Given the description of an element on the screen output the (x, y) to click on. 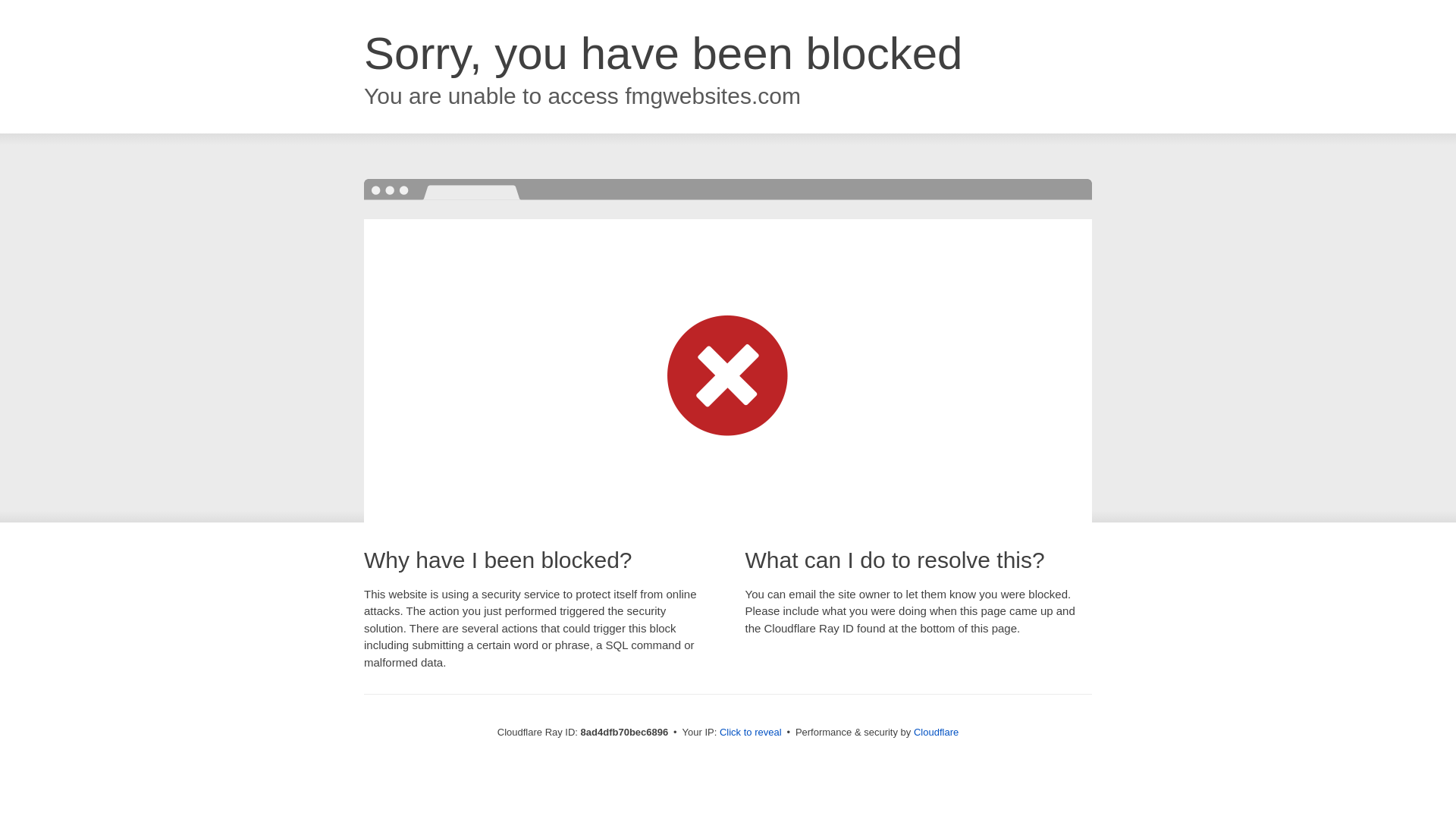
Cloudflare (936, 731)
Click to reveal (750, 732)
